Given the description of an element on the screen output the (x, y) to click on. 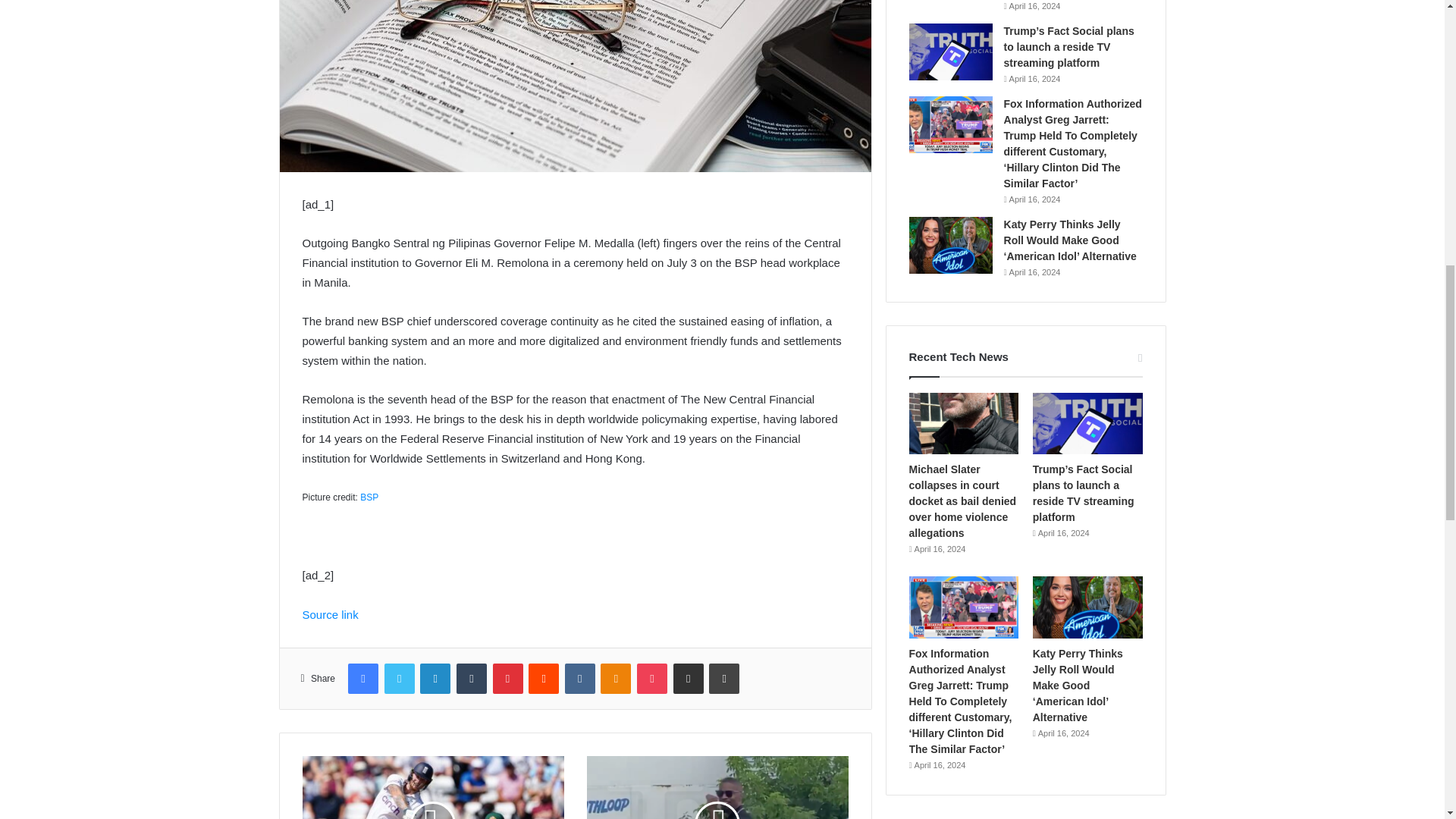
BSP (368, 497)
Source link (329, 614)
